Given the description of an element on the screen output the (x, y) to click on. 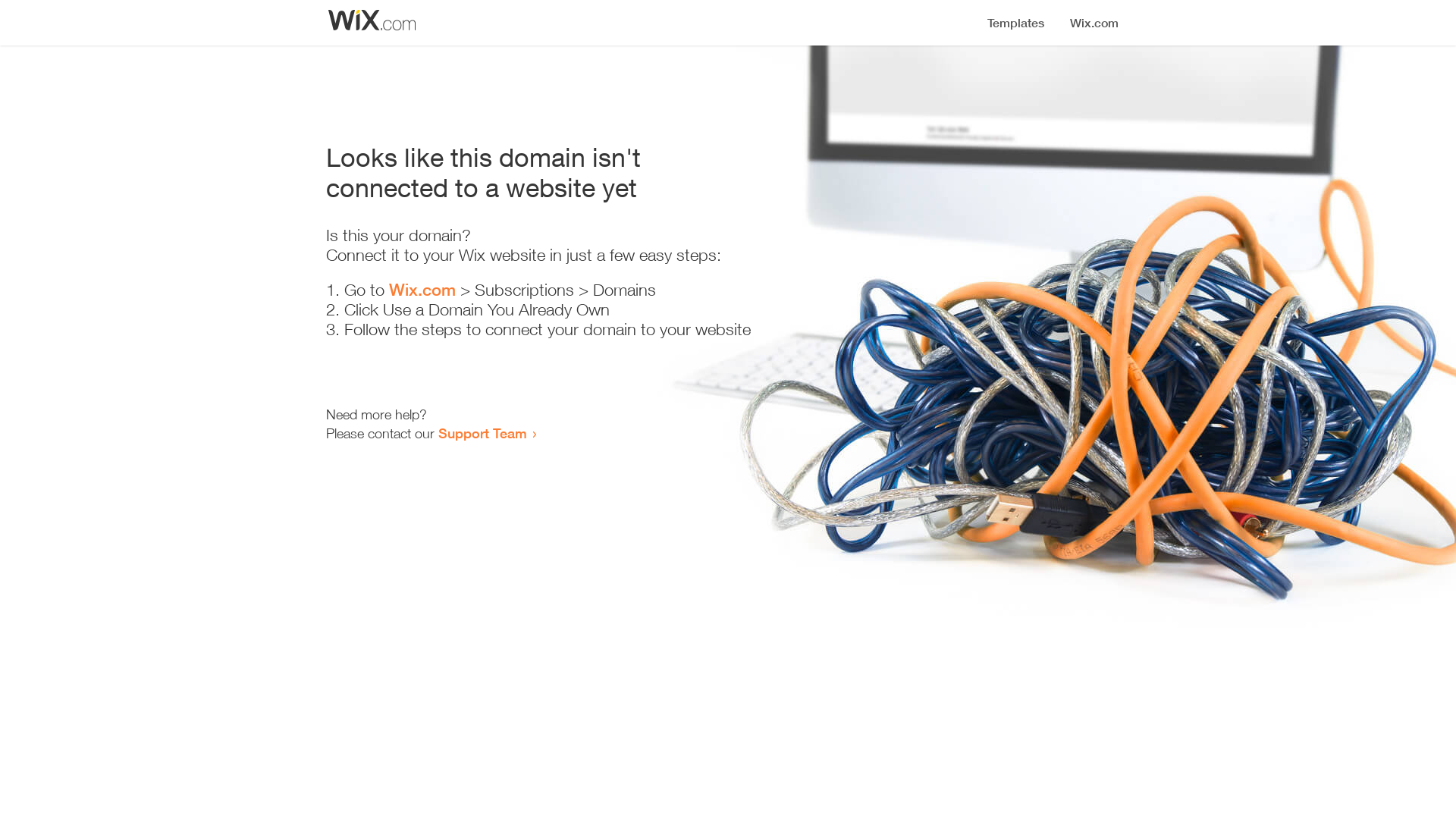
Support Team Element type: text (482, 432)
Wix.com Element type: text (422, 289)
